Given the description of an element on the screen output the (x, y) to click on. 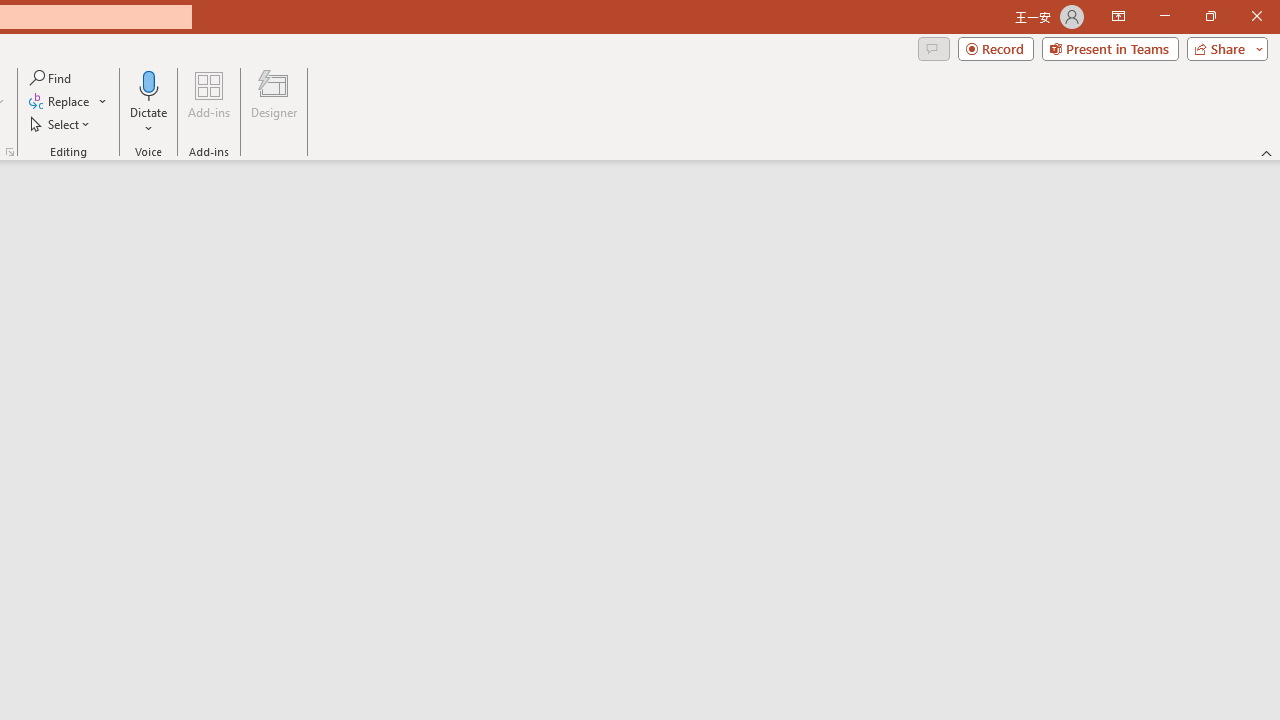
Dictate (149, 102)
Designer (274, 102)
Dictate (149, 84)
